Given the description of an element on the screen output the (x, y) to click on. 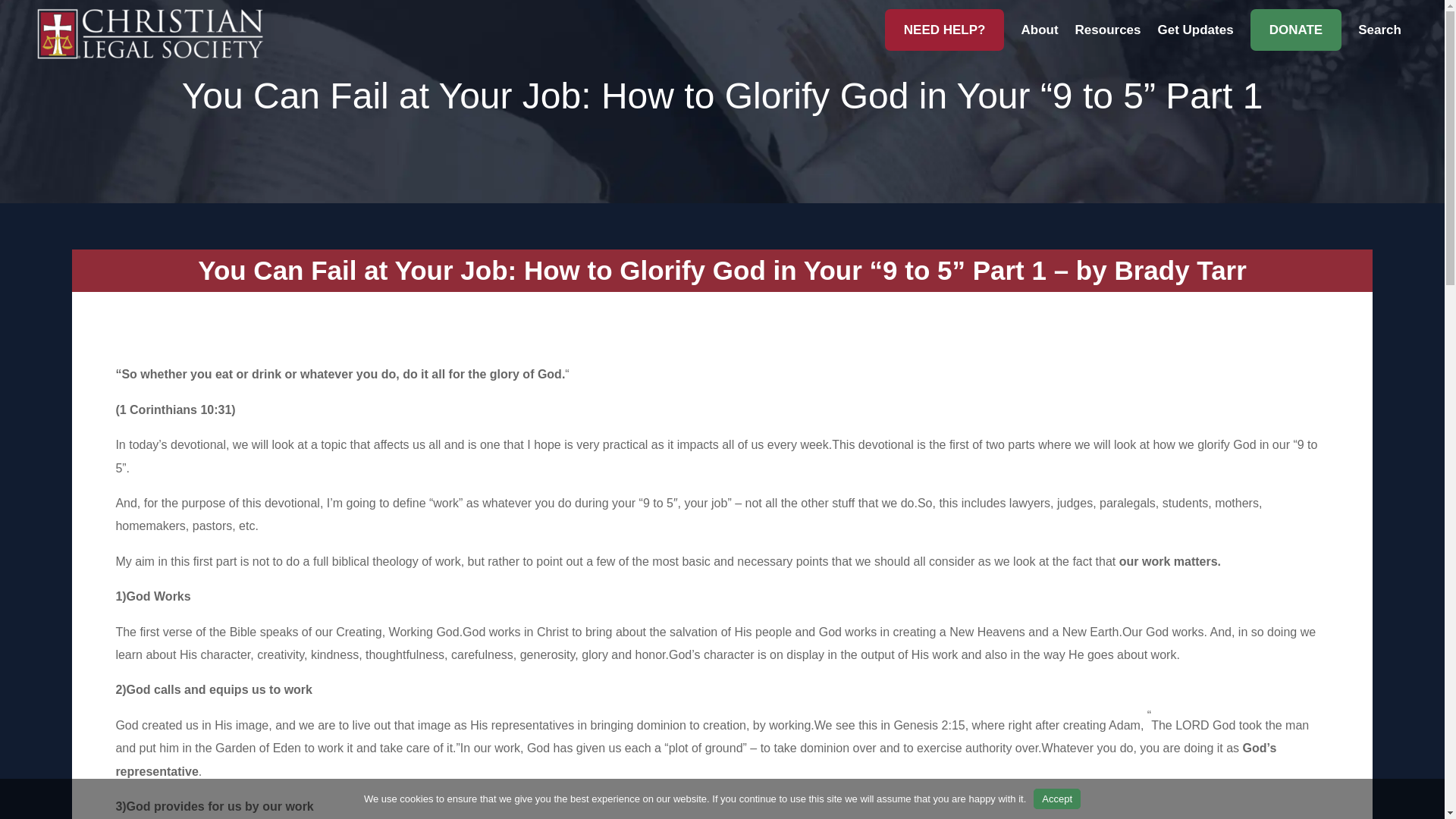
About (1039, 40)
Resources (1108, 40)
Get Updates (1195, 40)
Search (1379, 40)
NEED HELP? (944, 29)
DONATE (1296, 29)
